Given the description of an element on the screen output the (x, y) to click on. 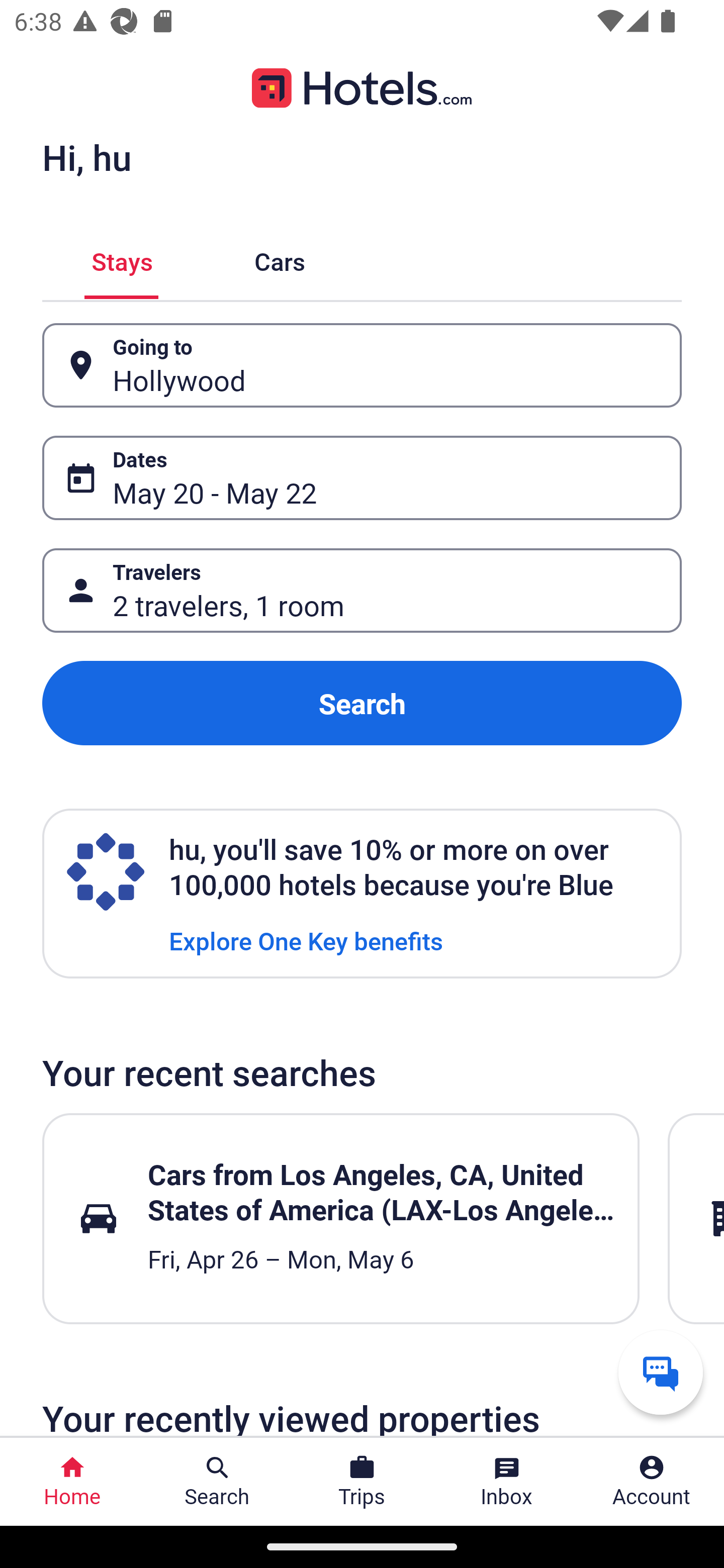
Hi, hu (86, 156)
Cars (279, 259)
Going to Button Hollywood (361, 365)
Dates Button May 20 - May 22 (361, 477)
Travelers Button 2 travelers, 1 room (361, 590)
Search (361, 702)
Get help from a virtual agent (660, 1371)
Search Search Button (216, 1481)
Trips Trips Button (361, 1481)
Inbox Inbox Button (506, 1481)
Account Profile. Button (651, 1481)
